Given the description of an element on the screen output the (x, y) to click on. 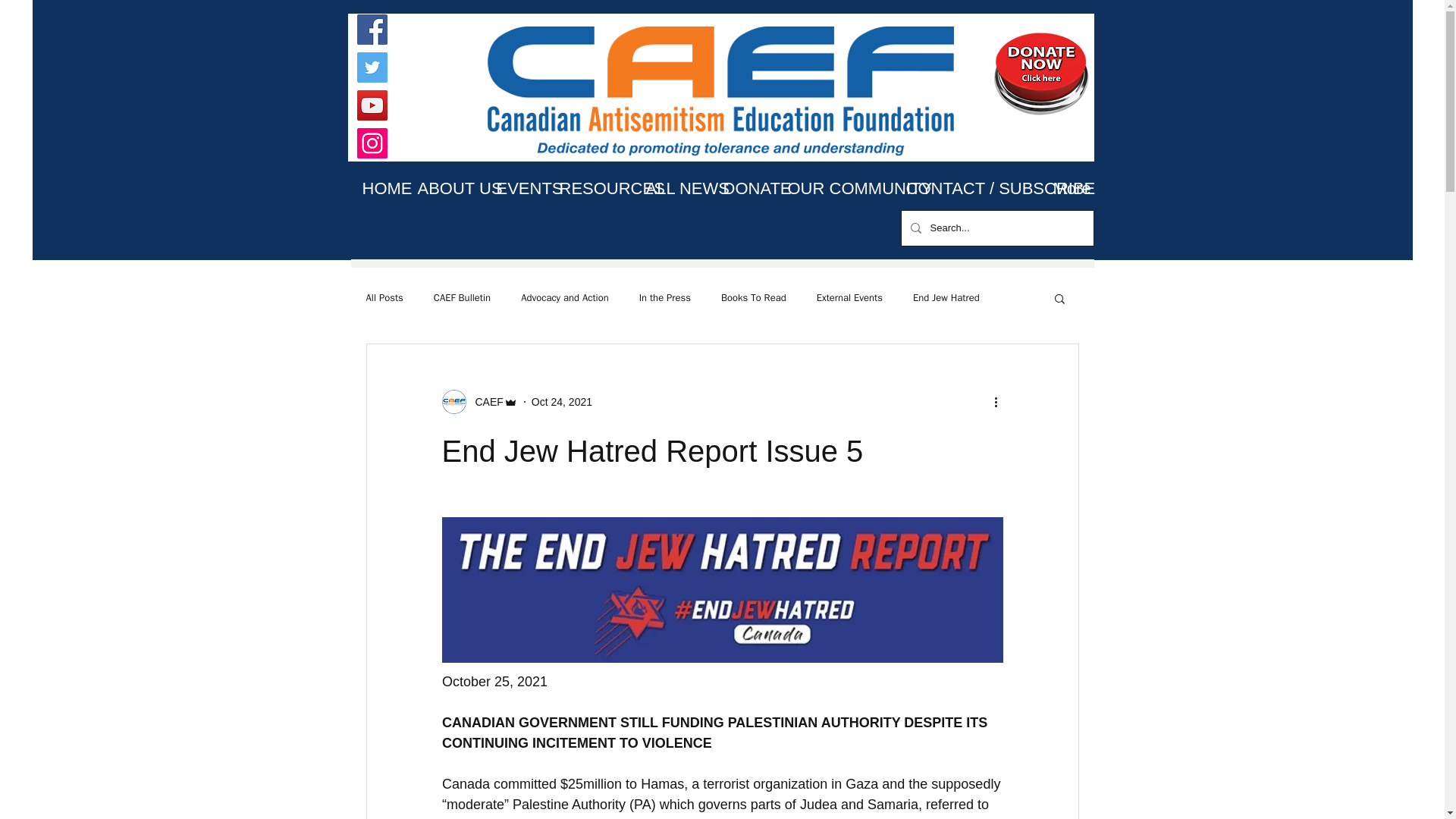
EVENTS (516, 187)
DONATE (743, 187)
CAEF (483, 401)
In the Press (664, 297)
All Posts (384, 297)
ALL NEWS (672, 187)
Oct 24, 2021 (561, 401)
OUR COMMUNITY (835, 187)
HOME (378, 187)
CAEF Bulletin (461, 297)
donate-now-NEW-button-transparent-200.pn (1040, 72)
RESOURCES (590, 187)
Advocacy and Action (564, 297)
